Given the description of an element on the screen output the (x, y) to click on. 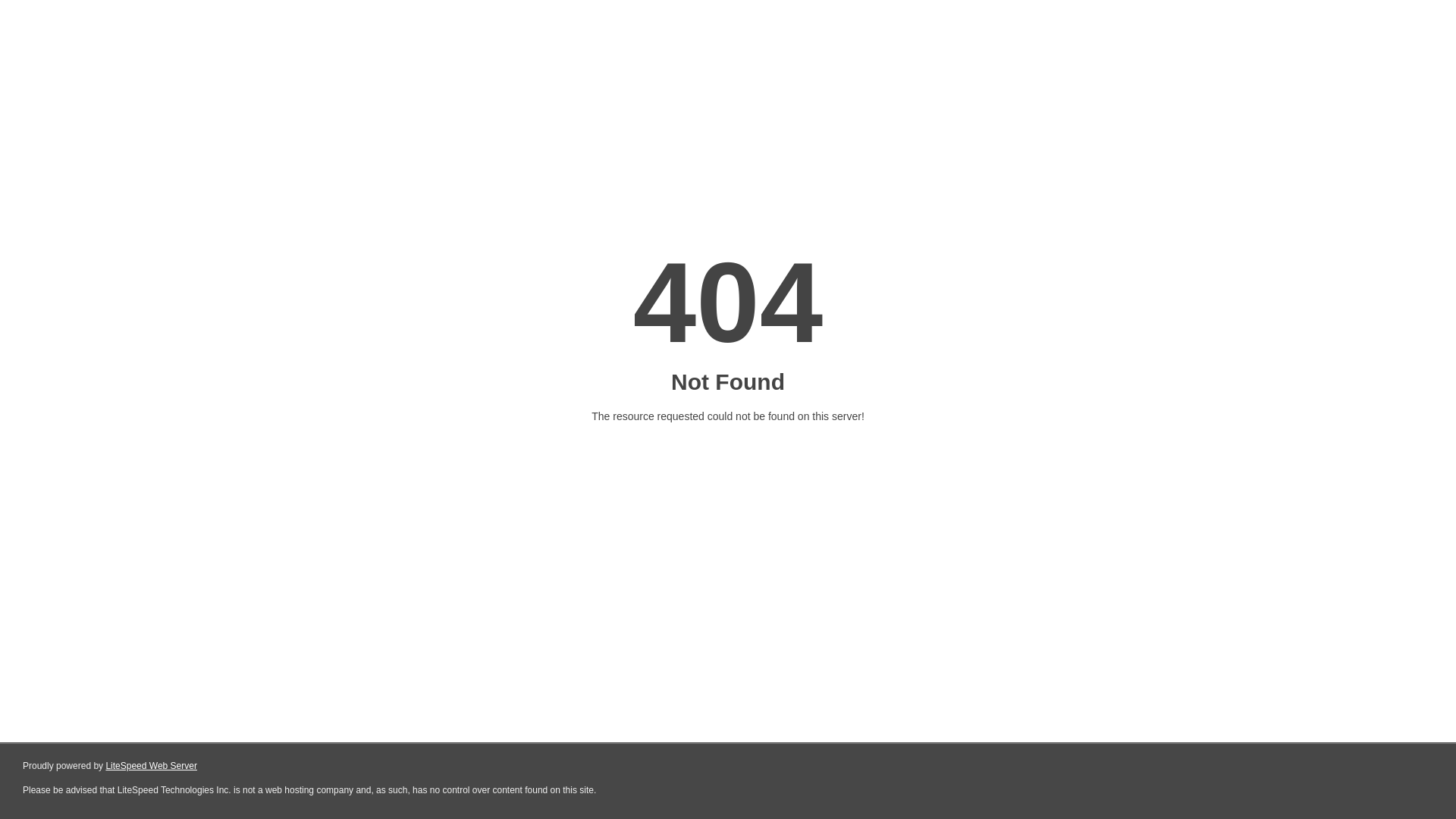
LiteSpeed Web Server Element type: text (151, 765)
